Given the description of an element on the screen output the (x, y) to click on. 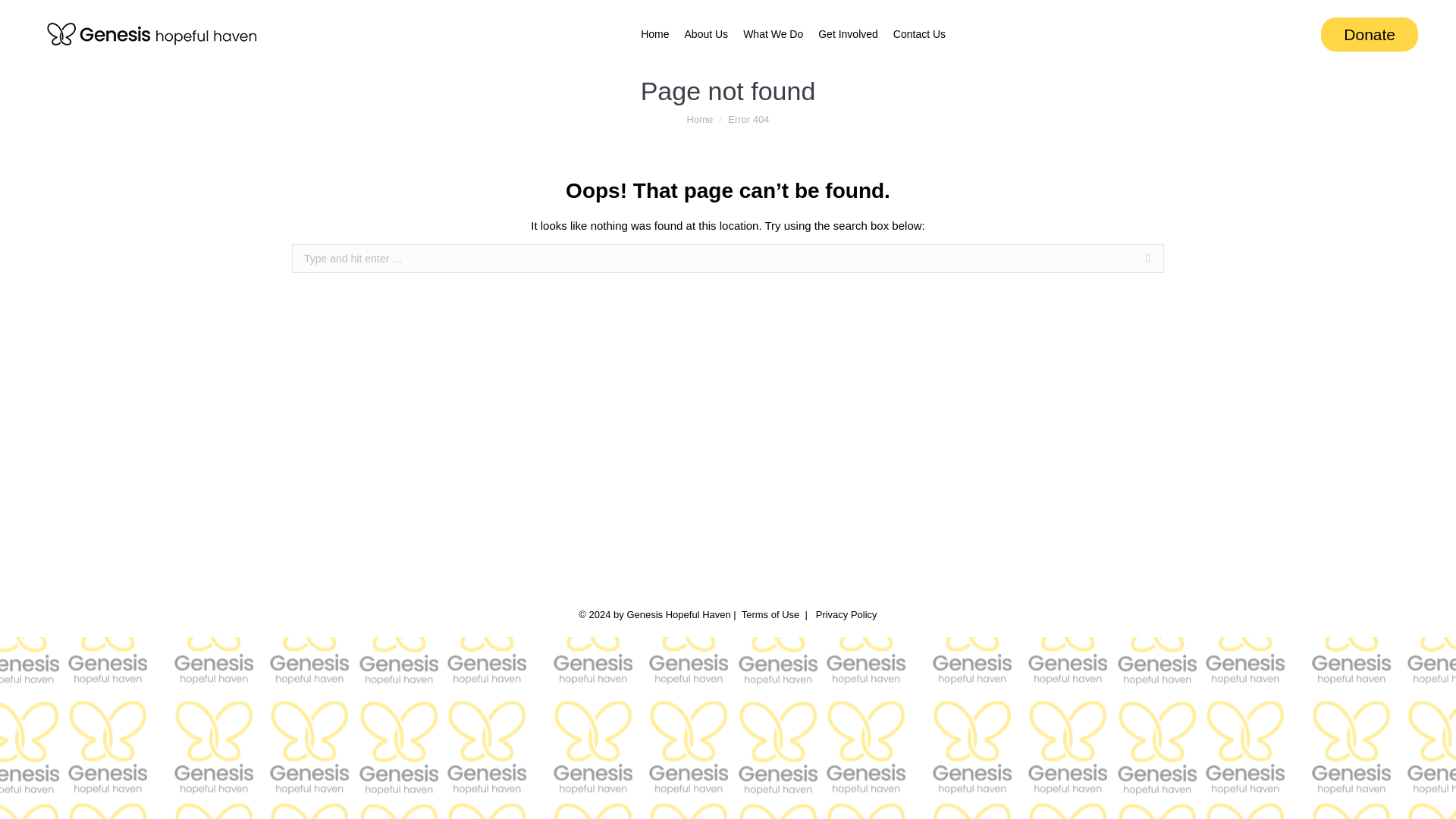
What We Do (772, 33)
Go! (1187, 260)
Go! (1187, 260)
Home (700, 119)
Donate (1369, 33)
Contact Us (919, 33)
Get Involved (847, 33)
Go! (1187, 260)
